Given the description of an element on the screen output the (x, y) to click on. 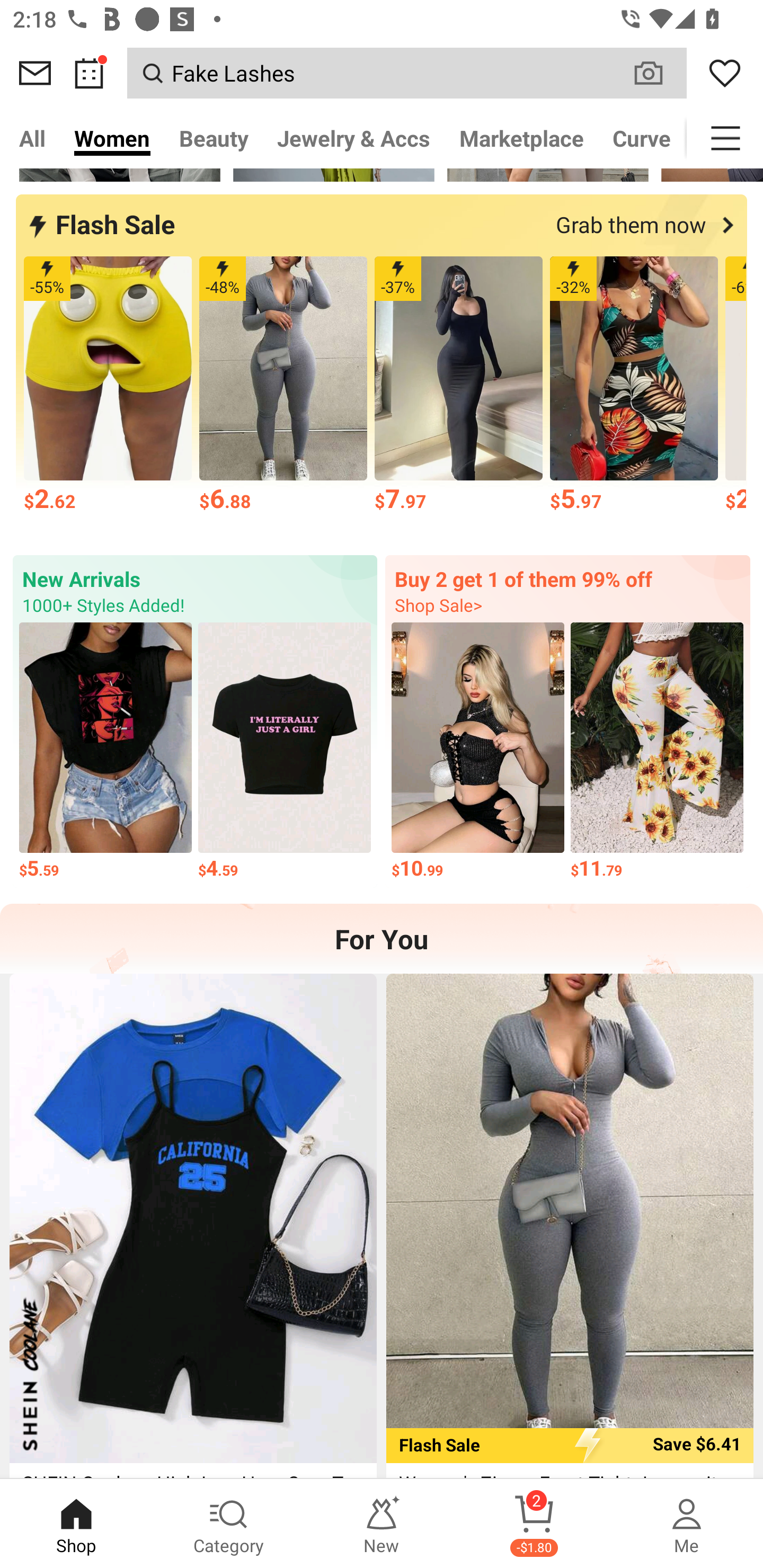
Wishlist (724, 72)
VISUAL SEARCH (657, 72)
All (31, 137)
Women (111, 137)
Beauty (213, 137)
Jewelry & Accs (353, 137)
Marketplace (521, 137)
Curve (641, 137)
$5.59 Price $5.59 (105, 751)
$4.59 Price $4.59 (284, 751)
$10.99 Price $10.99 (477, 751)
$11.79 Price $11.79 (656, 751)
Category (228, 1523)
New (381, 1523)
Cart 2 -$1.80 (533, 1523)
Me (686, 1523)
